Given the description of an element on the screen output the (x, y) to click on. 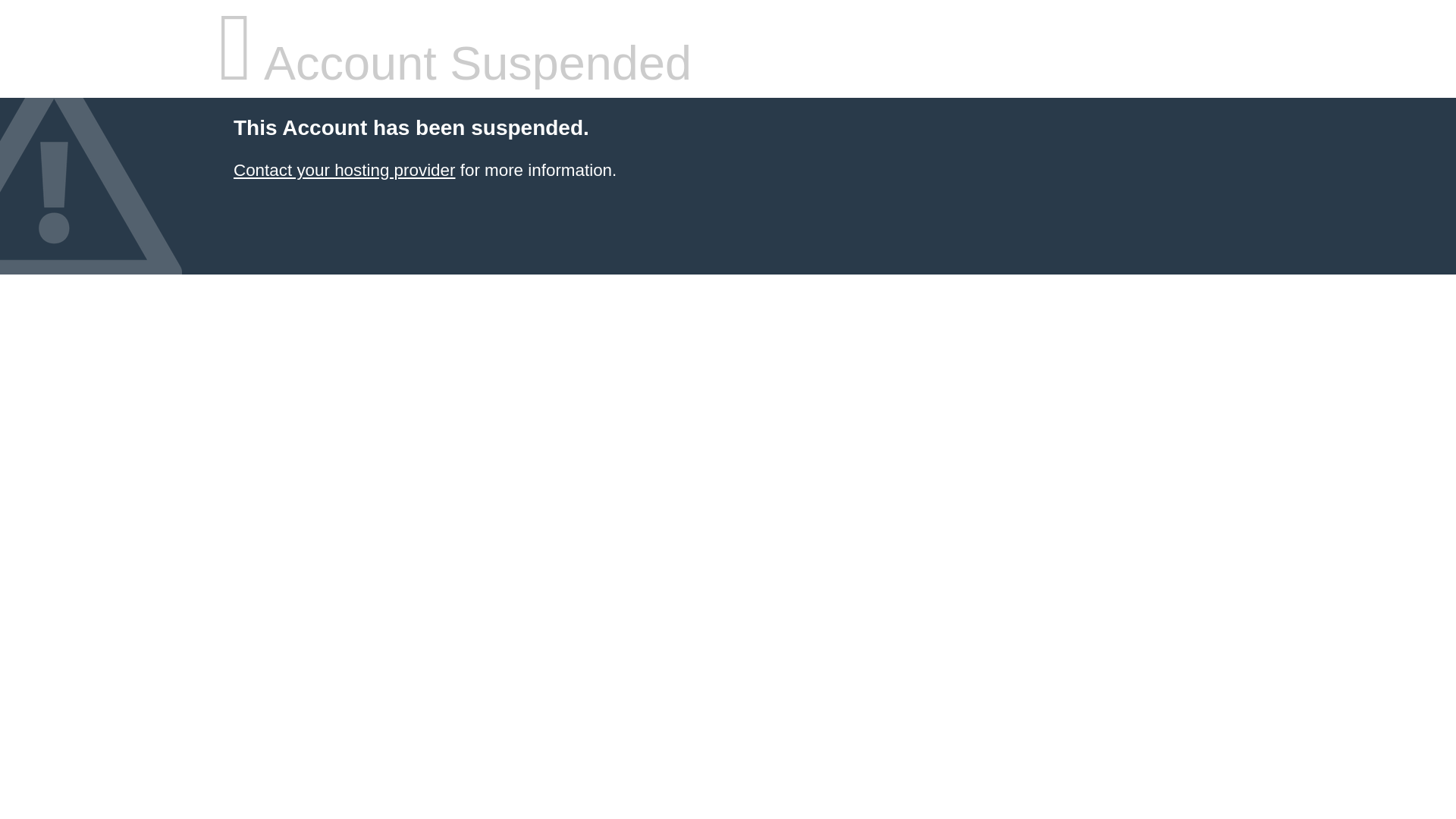
Contact your hosting provider (343, 169)
